Given the description of an element on the screen output the (x, y) to click on. 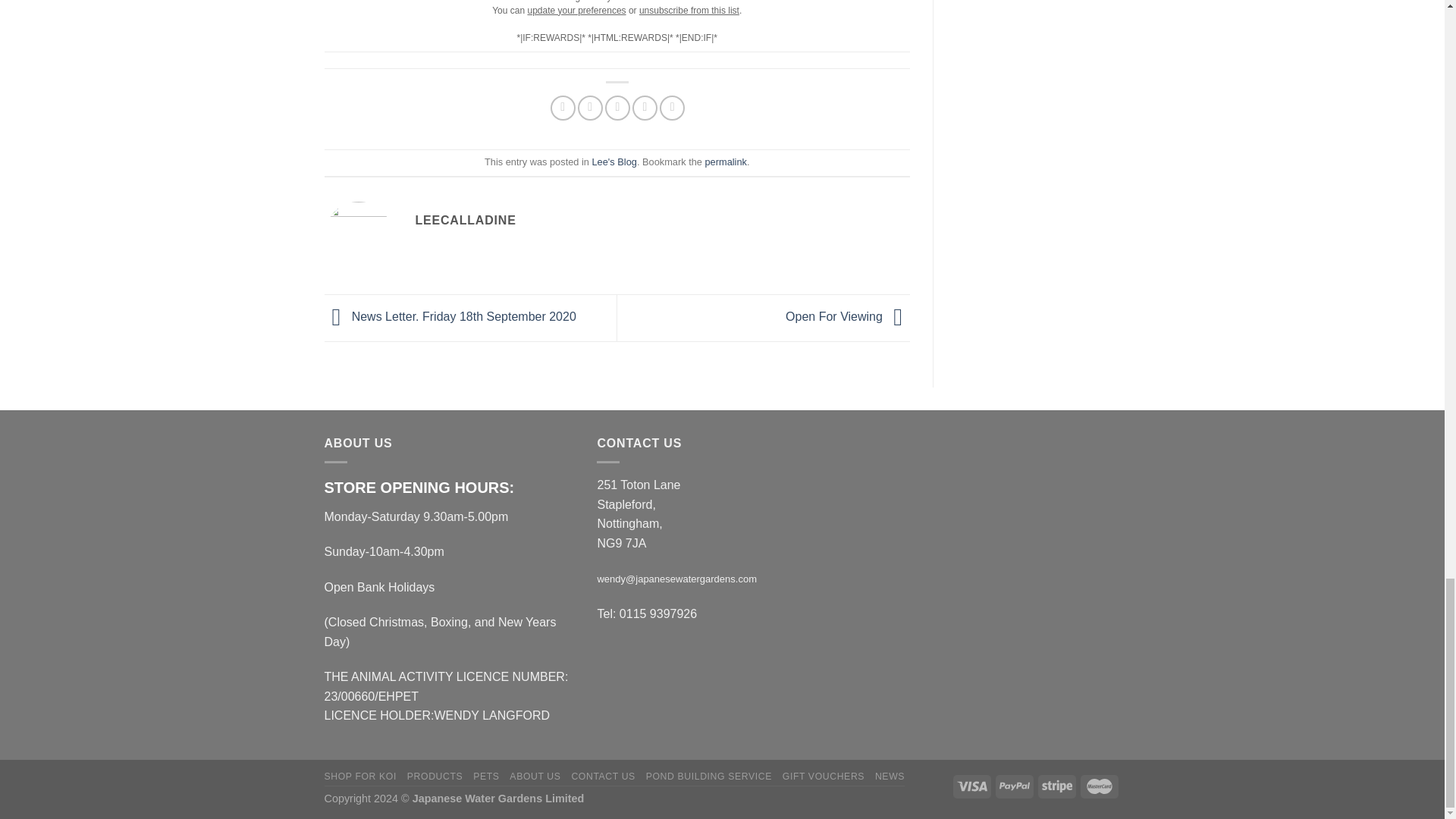
Share on Facebook (562, 107)
Share on LinkedIn (671, 107)
Email to a Friend (617, 107)
Share on Twitter (590, 107)
Pin on Pinterest (644, 107)
Permalink to News Letter. Friday 25th September 2020 (725, 161)
